Given the description of an element on the screen output the (x, y) to click on. 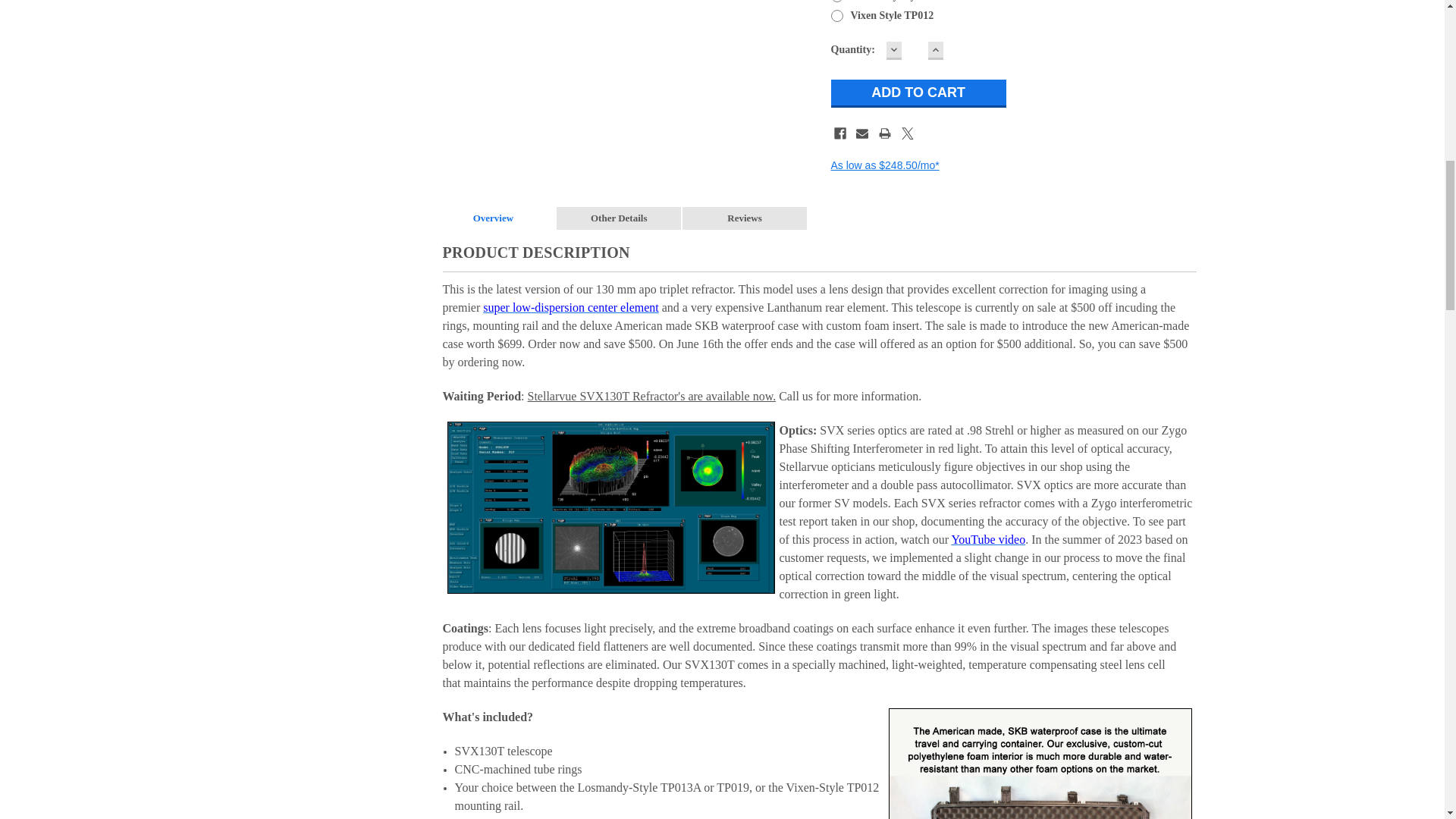
1 (914, 50)
Add to Cart (918, 93)
